Given the description of an element on the screen output the (x, y) to click on. 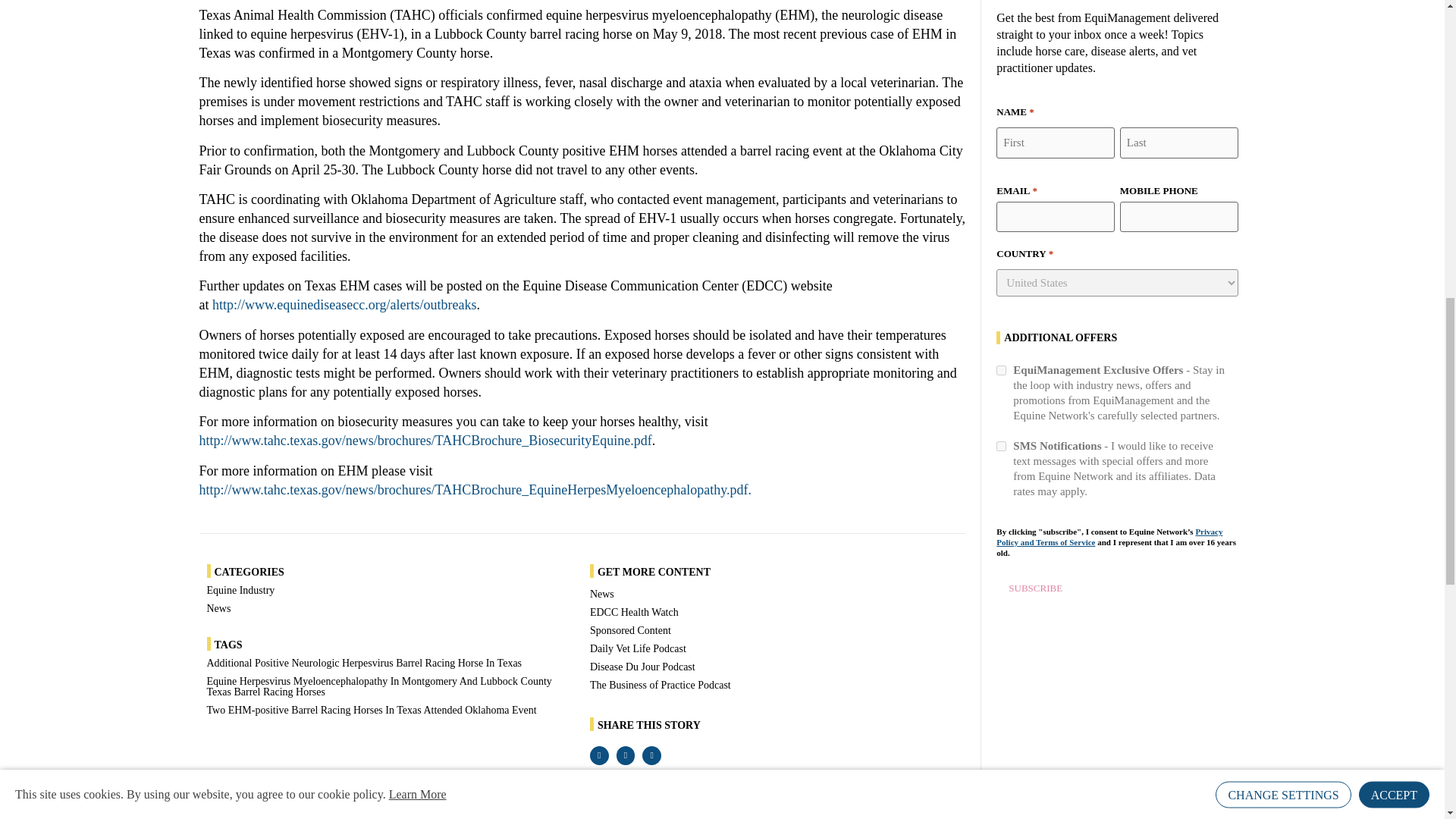
157be729-a691-4459-9ca3-c1f10a60b90e (1000, 370)
SMS Notifications (1000, 446)
Subscribe (1034, 587)
